Given the description of an element on the screen output the (x, y) to click on. 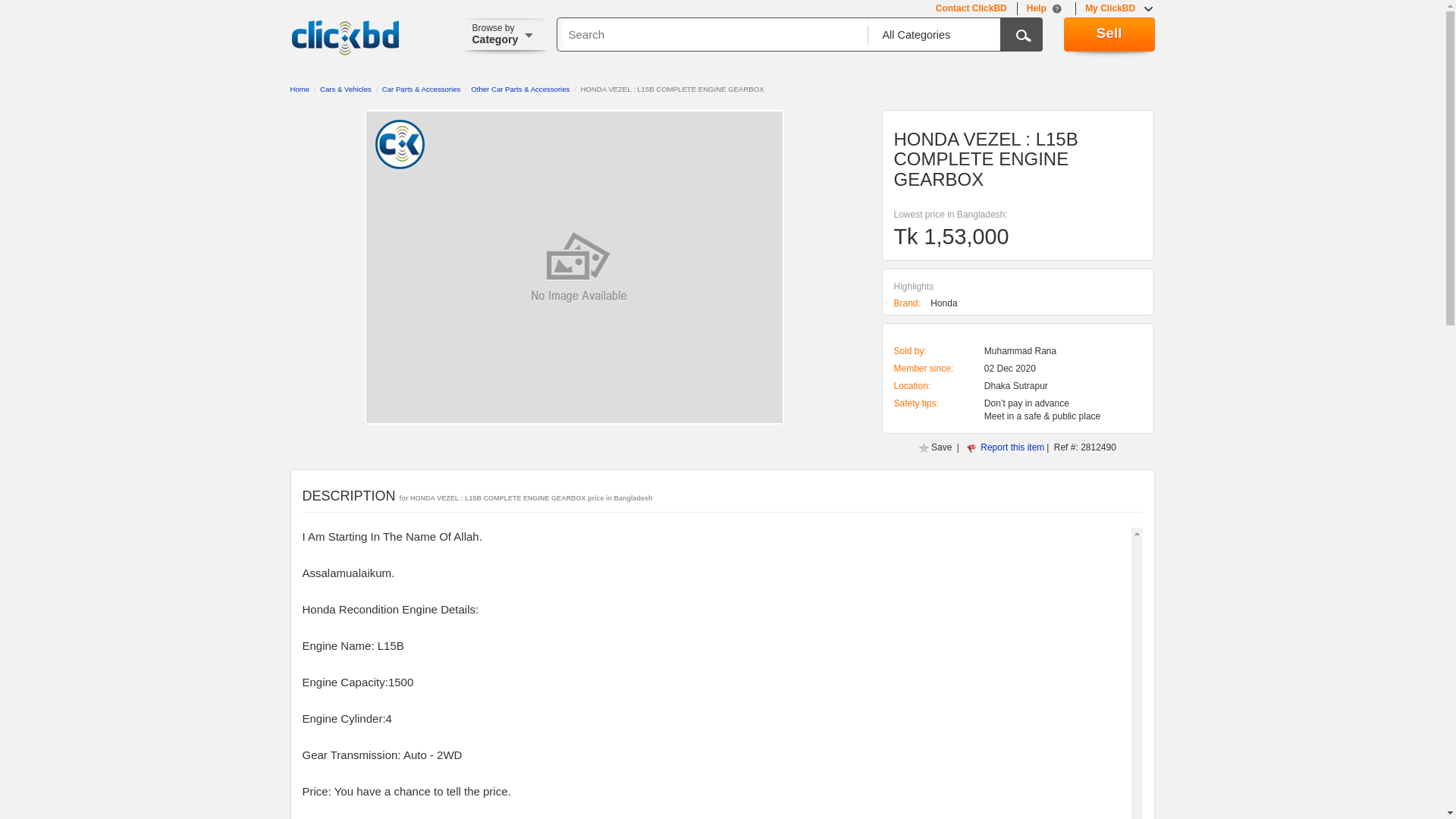
Browse by Category (510, 36)
Home (298, 89)
search (1020, 34)
Report this item (1011, 447)
ClickBD.com, The Largest E-commerce Site in Bangladesh (344, 37)
All Categories (927, 34)
Help (1045, 8)
Sell (1108, 34)
search (1020, 34)
Contact ClickBD (971, 8)
